Given the description of an element on the screen output the (x, y) to click on. 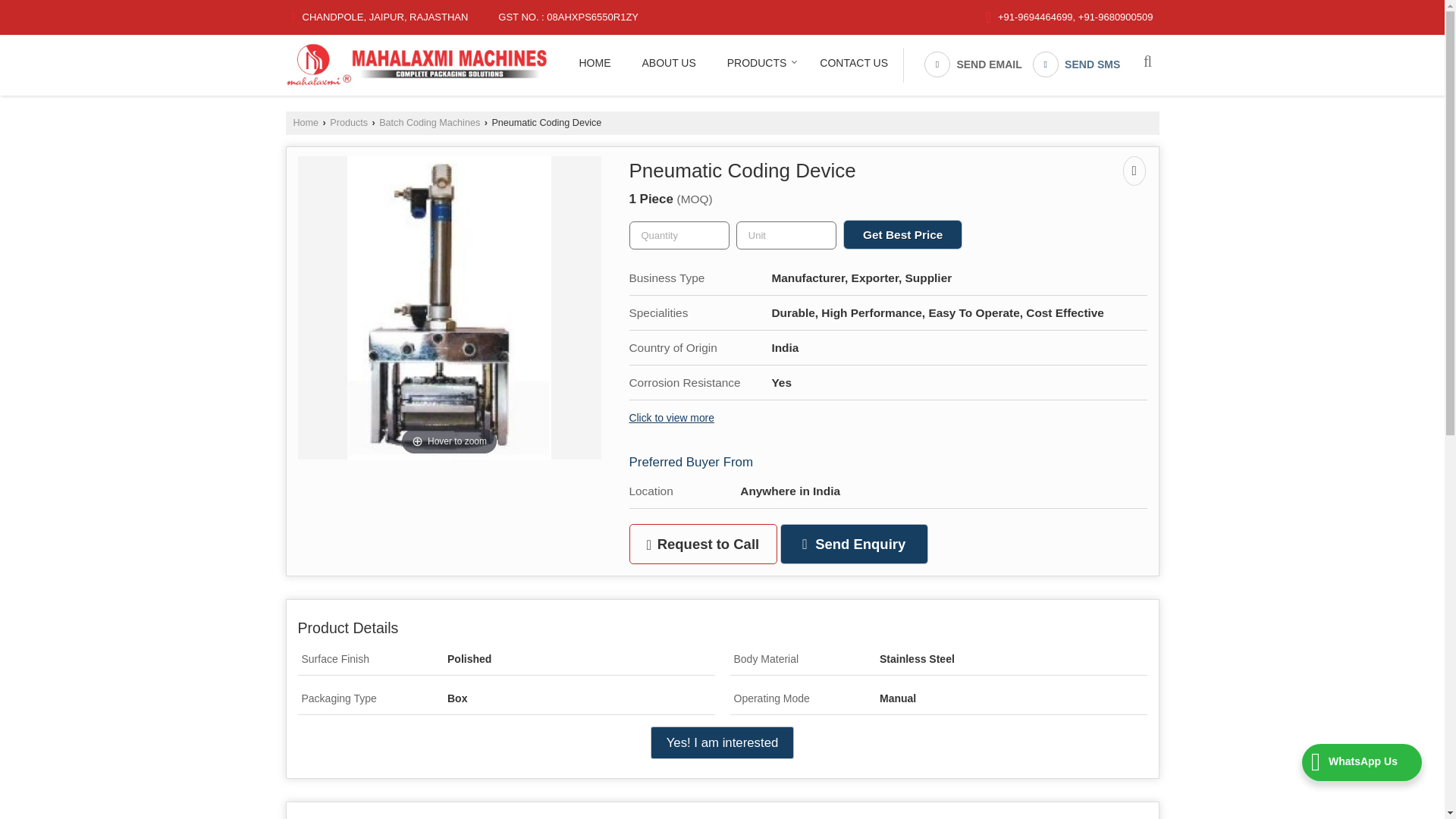
SEND SMS (1076, 64)
About Us (668, 62)
HOME (594, 62)
PRODUCTS (758, 62)
Home (594, 62)
Mahalaxmi Machines (416, 64)
SEND EMAIL (972, 64)
ABOUT US (668, 62)
Products (758, 62)
